Given the description of an element on the screen output the (x, y) to click on. 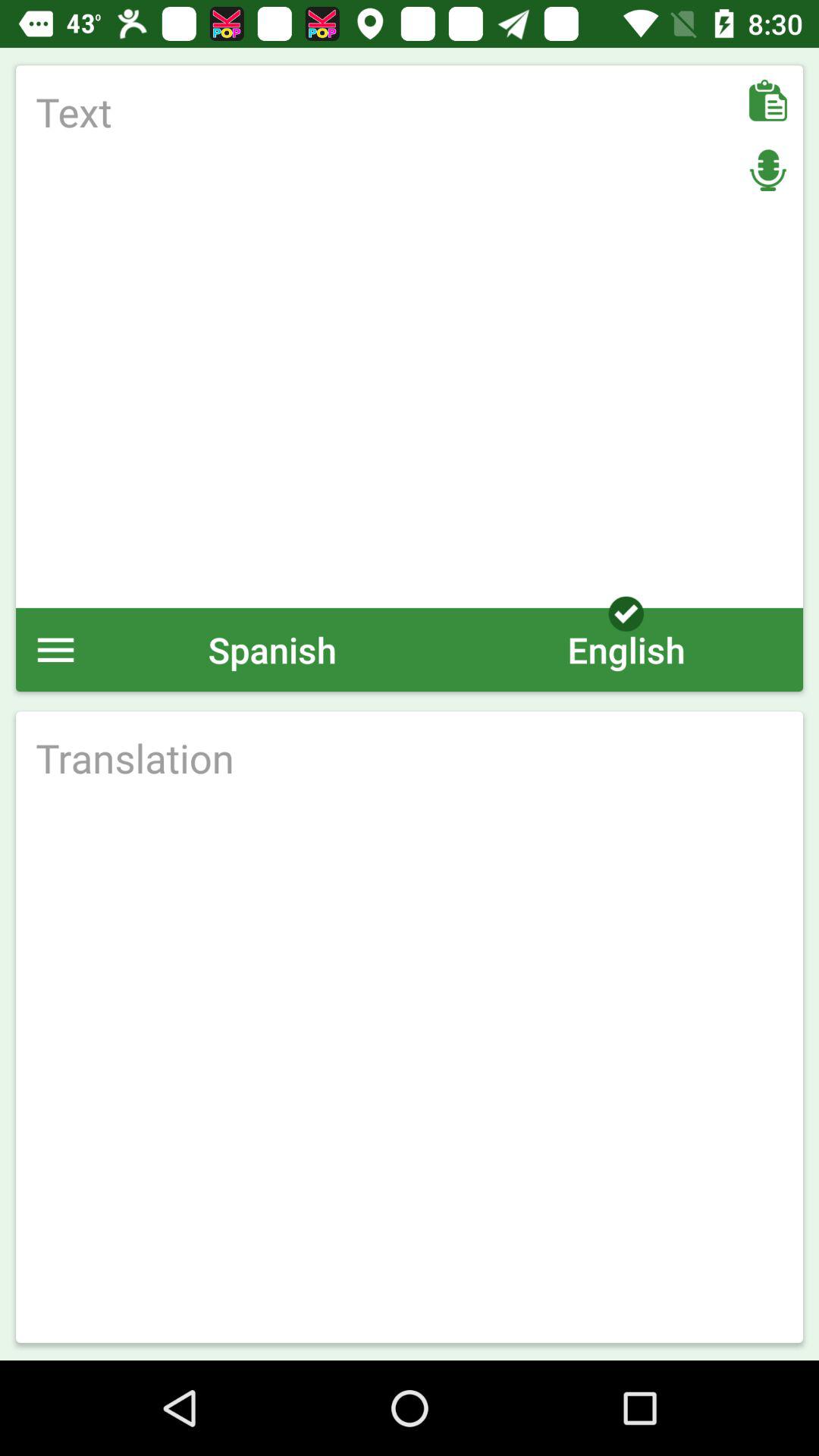
choose the item next to spanish item (55, 649)
